Given the description of an element on the screen output the (x, y) to click on. 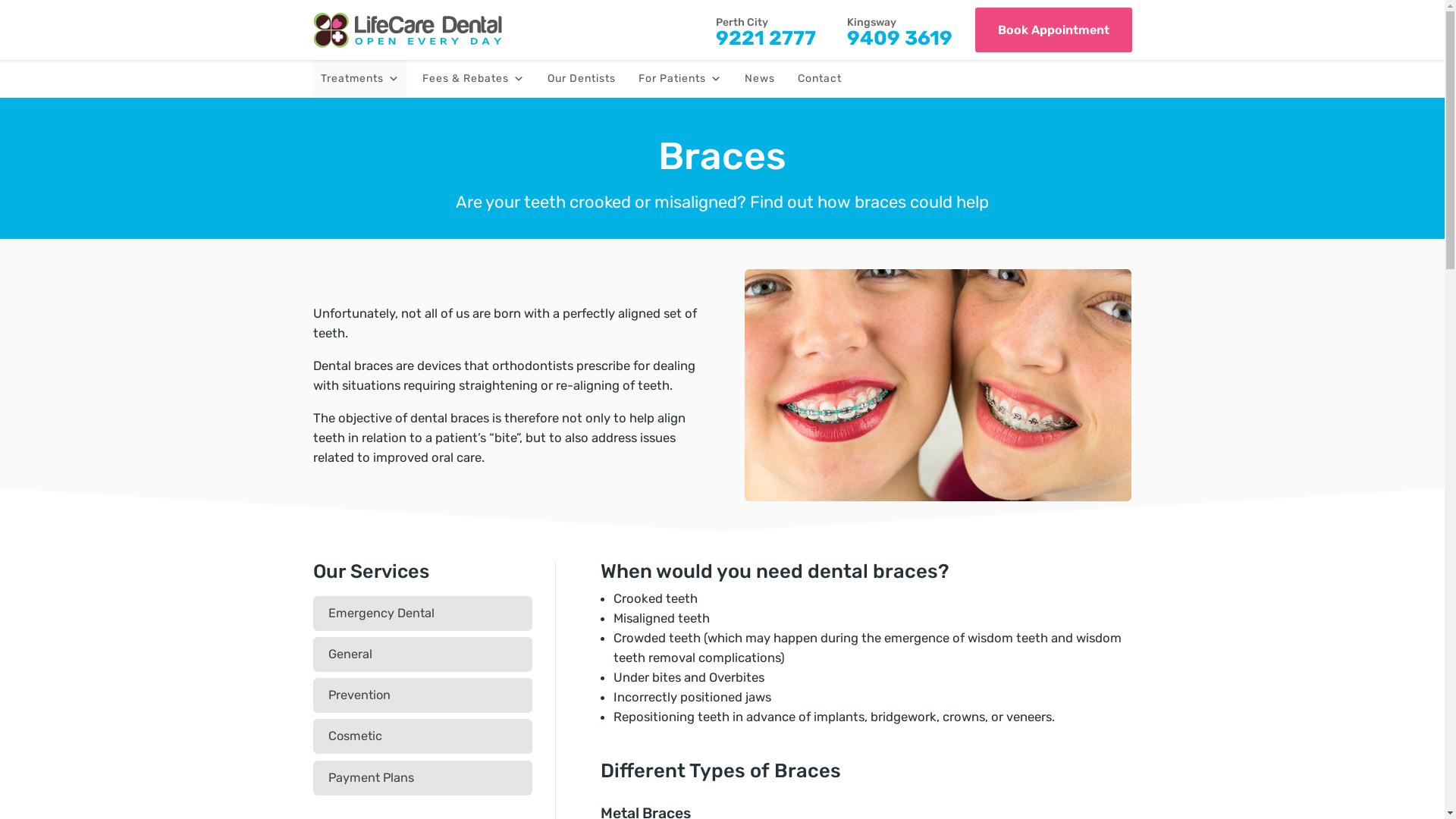
Fees & Rebates Element type: text (472, 78)
Book Appointment Element type: text (1053, 29)
Dental Crowns and Bridges Element type: hover (937, 385)
Emergency Dental Element type: text (380, 612)
Treatments Element type: text (359, 78)
Our Dentists Element type: text (581, 78)
Cosmetic Element type: text (354, 735)
Prevention Element type: text (358, 694)
Payment Plans Element type: text (370, 777)
General Element type: text (349, 653)
Contact Element type: text (819, 78)
lifecare-dental-nav-logo Element type: hover (407, 30)
For Patients Element type: text (679, 78)
News Element type: text (759, 78)
